Given the description of an element on the screen output the (x, y) to click on. 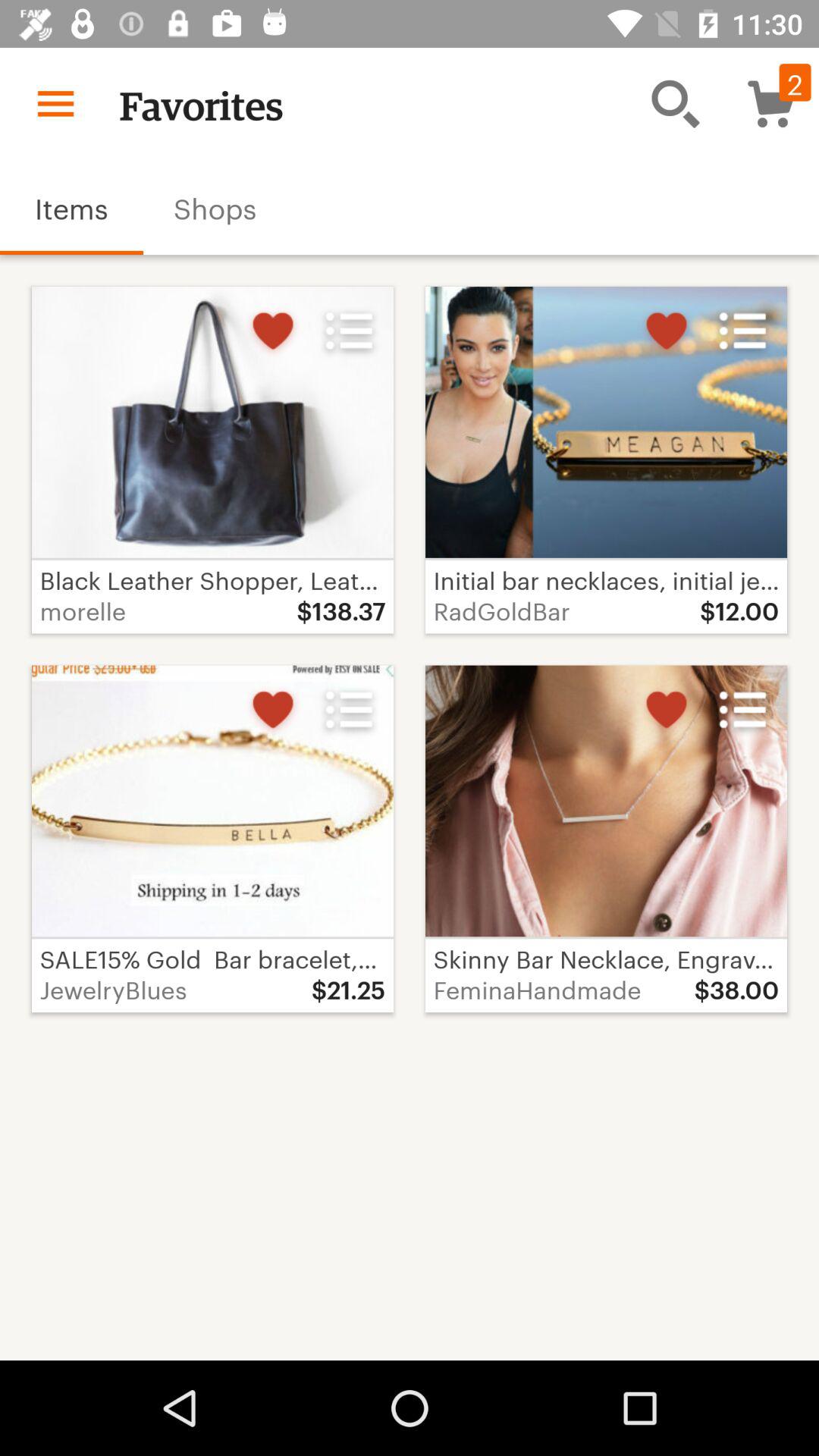
tap app to the right of the favorites (675, 103)
